Given the description of an element on the screen output the (x, y) to click on. 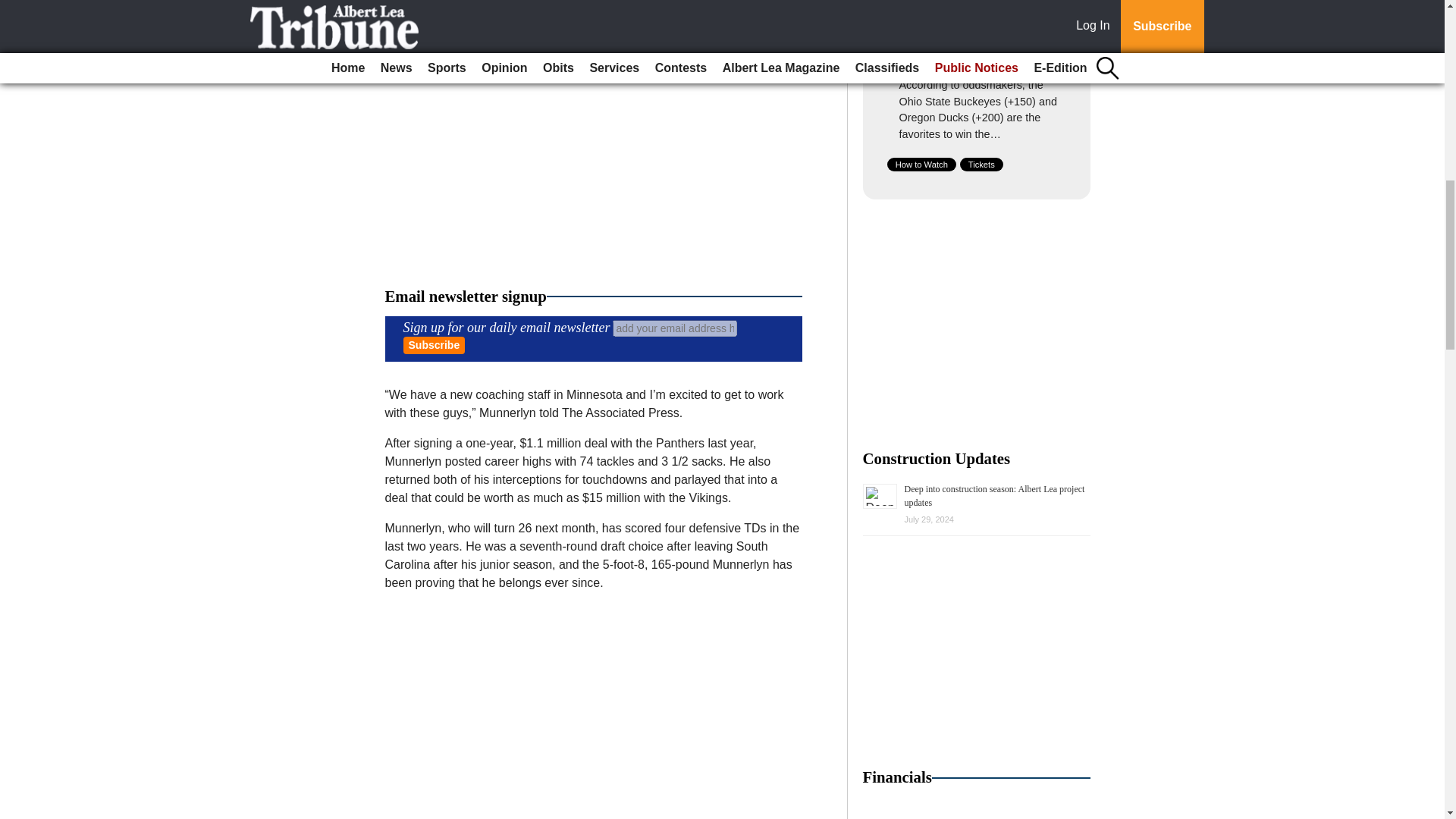
US Market Update (976, 807)
Subscribe (434, 344)
